Given the description of an element on the screen output the (x, y) to click on. 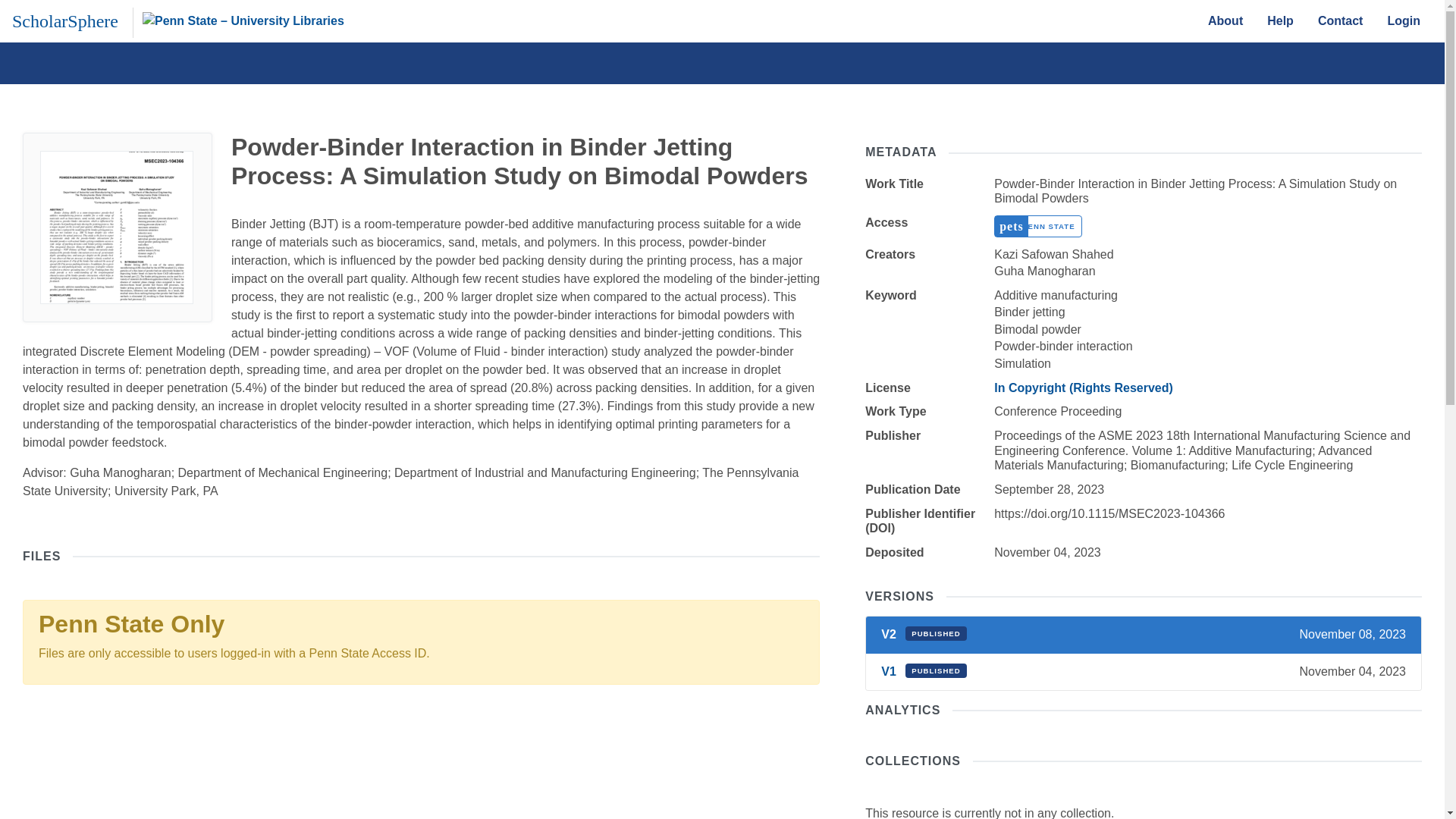
ScholarSphere (64, 20)
V2 PUBLISHED (923, 634)
V1 PUBLISHED (923, 671)
Help (1280, 20)
Contact (1340, 20)
About (1225, 20)
Login (1403, 20)
